Given the description of an element on the screen output the (x, y) to click on. 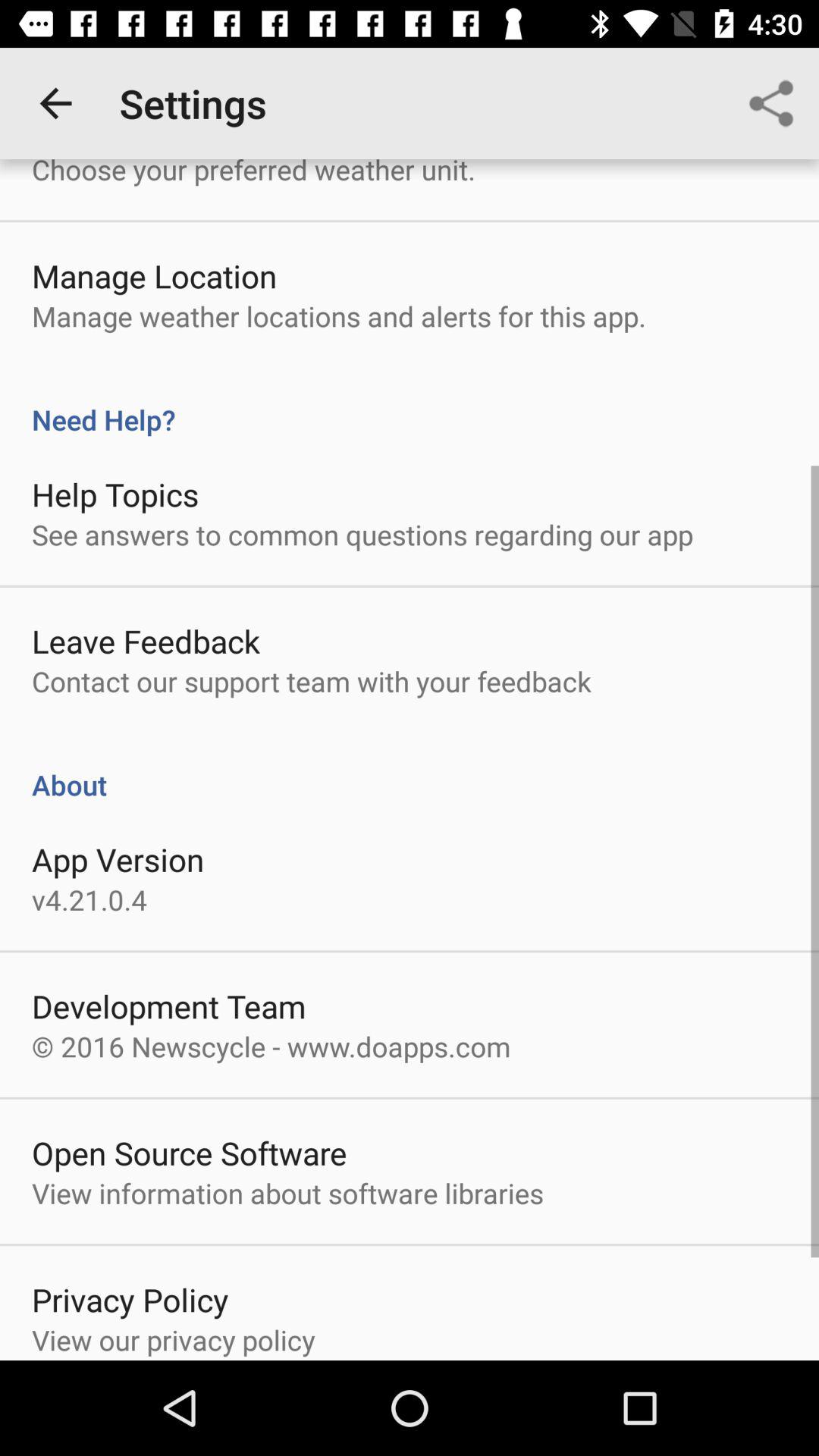
choose manage location (153, 275)
